Given the description of an element on the screen output the (x, y) to click on. 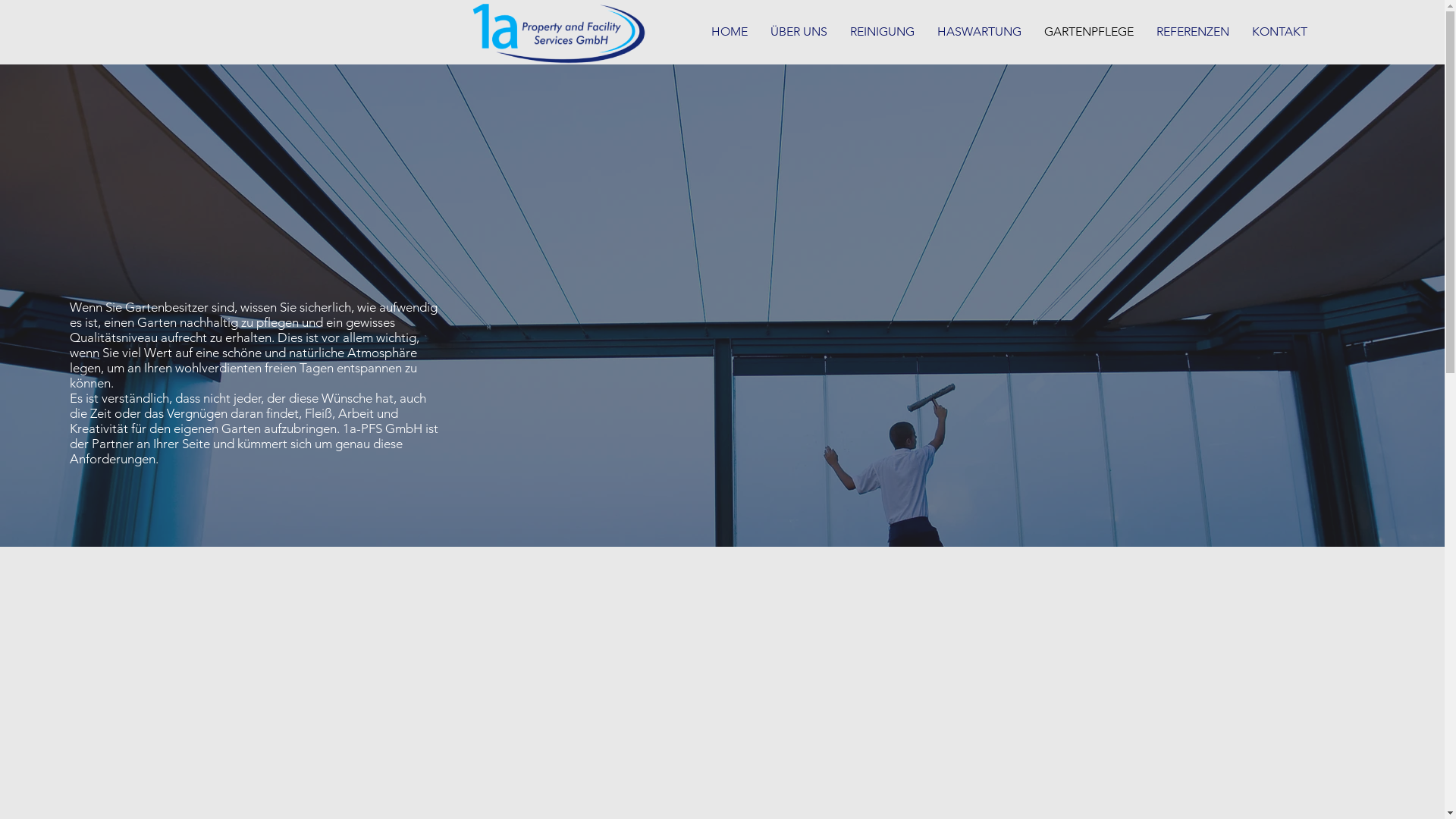
REFERENZEN Element type: text (1192, 31)
HASWARTUNG Element type: text (978, 31)
GARTENPFLEGE Element type: text (1088, 31)
KONTAKT Element type: text (1279, 31)
HOME Element type: text (729, 31)
REINIGUNG Element type: text (881, 31)
